Given the description of an element on the screen output the (x, y) to click on. 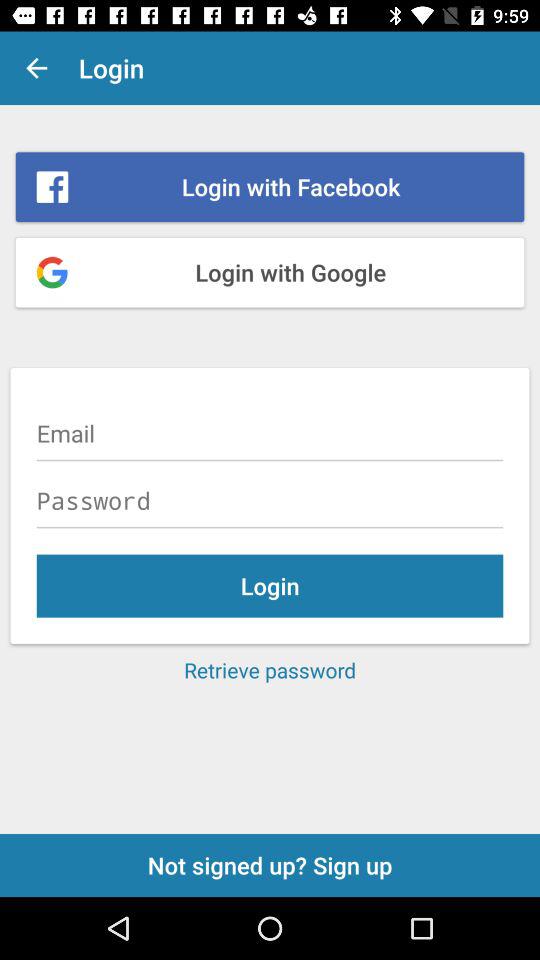
click the item below retrieve password icon (270, 864)
